Given the description of an element on the screen output the (x, y) to click on. 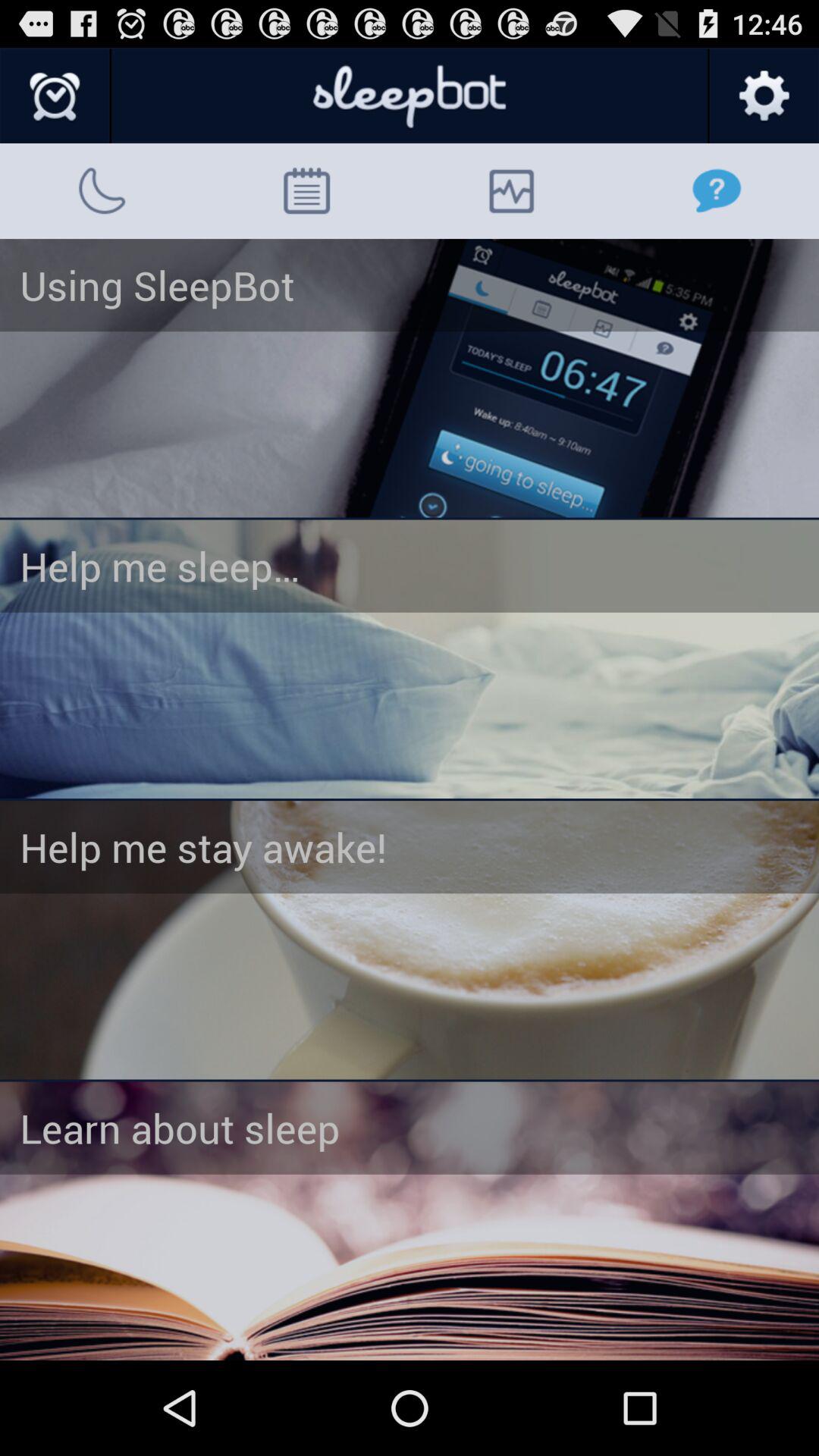
go to sleep info (409, 1220)
